Given the description of an element on the screen output the (x, y) to click on. 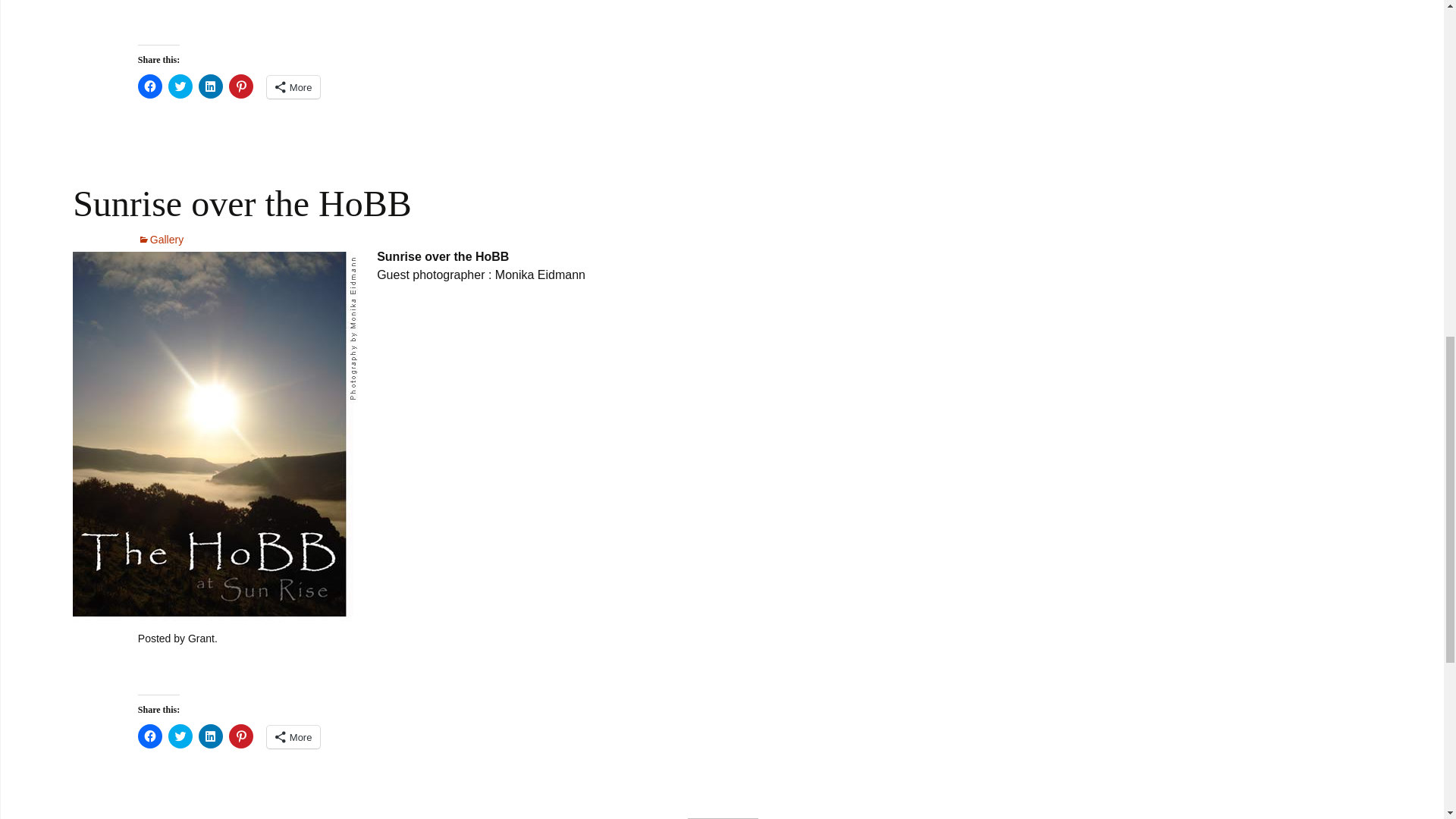
Sunrise over the HoBB (242, 203)
Click to share on Facebook (149, 86)
Click to share on Pinterest (240, 735)
More (293, 87)
Gallery (160, 239)
Click to share on Twitter (180, 735)
Click to share on Pinterest (240, 86)
Click to share on LinkedIn (210, 735)
Click to share on Facebook (149, 735)
Click to share on LinkedIn (210, 86)
Click to share on Twitter (180, 86)
